Given the description of an element on the screen output the (x, y) to click on. 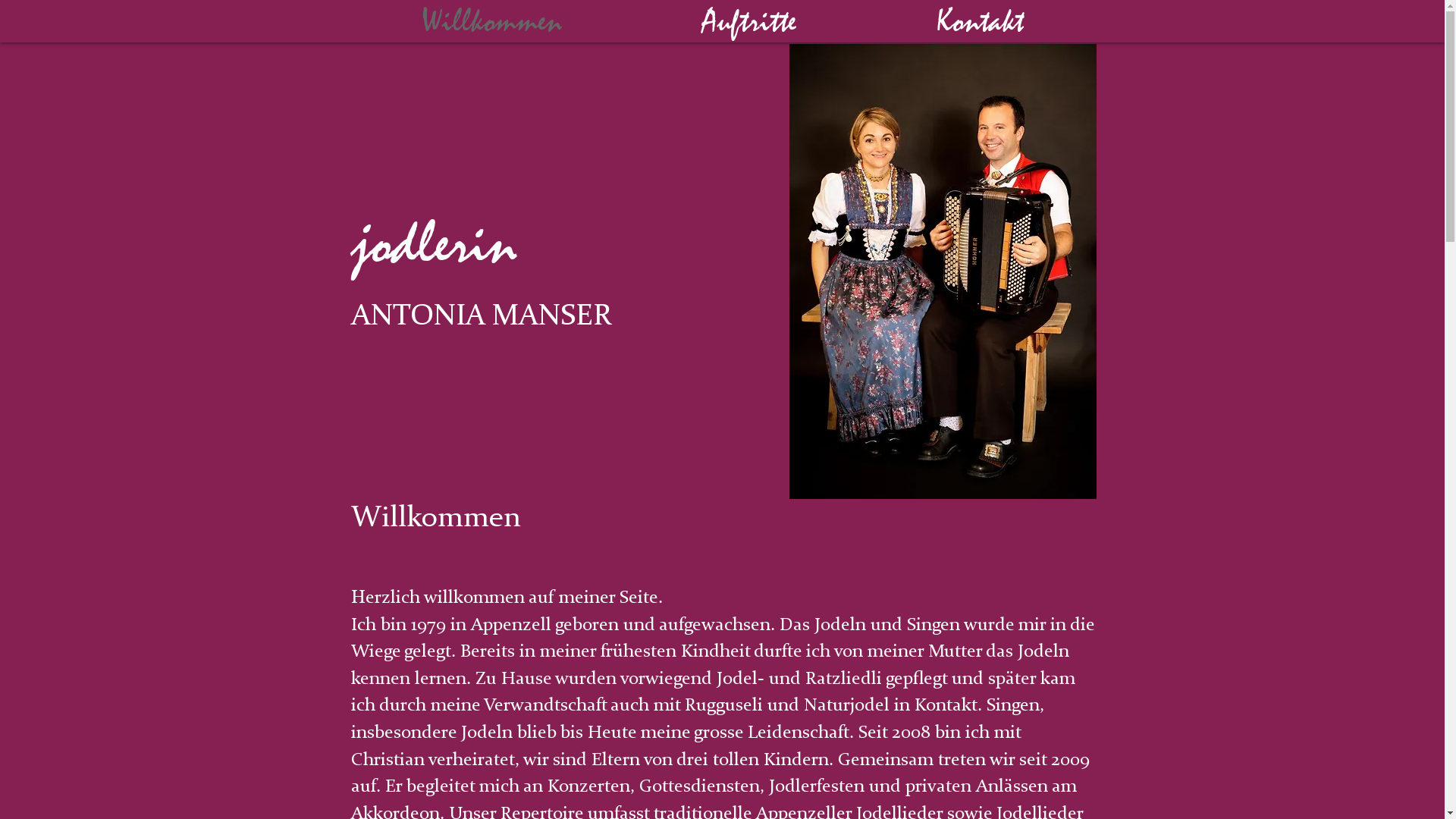
H Element type: text (357, 596)
erzlich willkommen auf meiner Seite. Element type: text (513, 598)
Auftritte Element type: text (749, 21)
jodlerin Element type: text (433, 244)
Jodlerin Antonia Manser.jpg Element type: hover (941, 270)
ANTONIA MANSER Element type: text (480, 317)
Willkommen Element type: text (490, 21)
Kontakt Element type: text (979, 21)
